Given the description of an element on the screen output the (x, y) to click on. 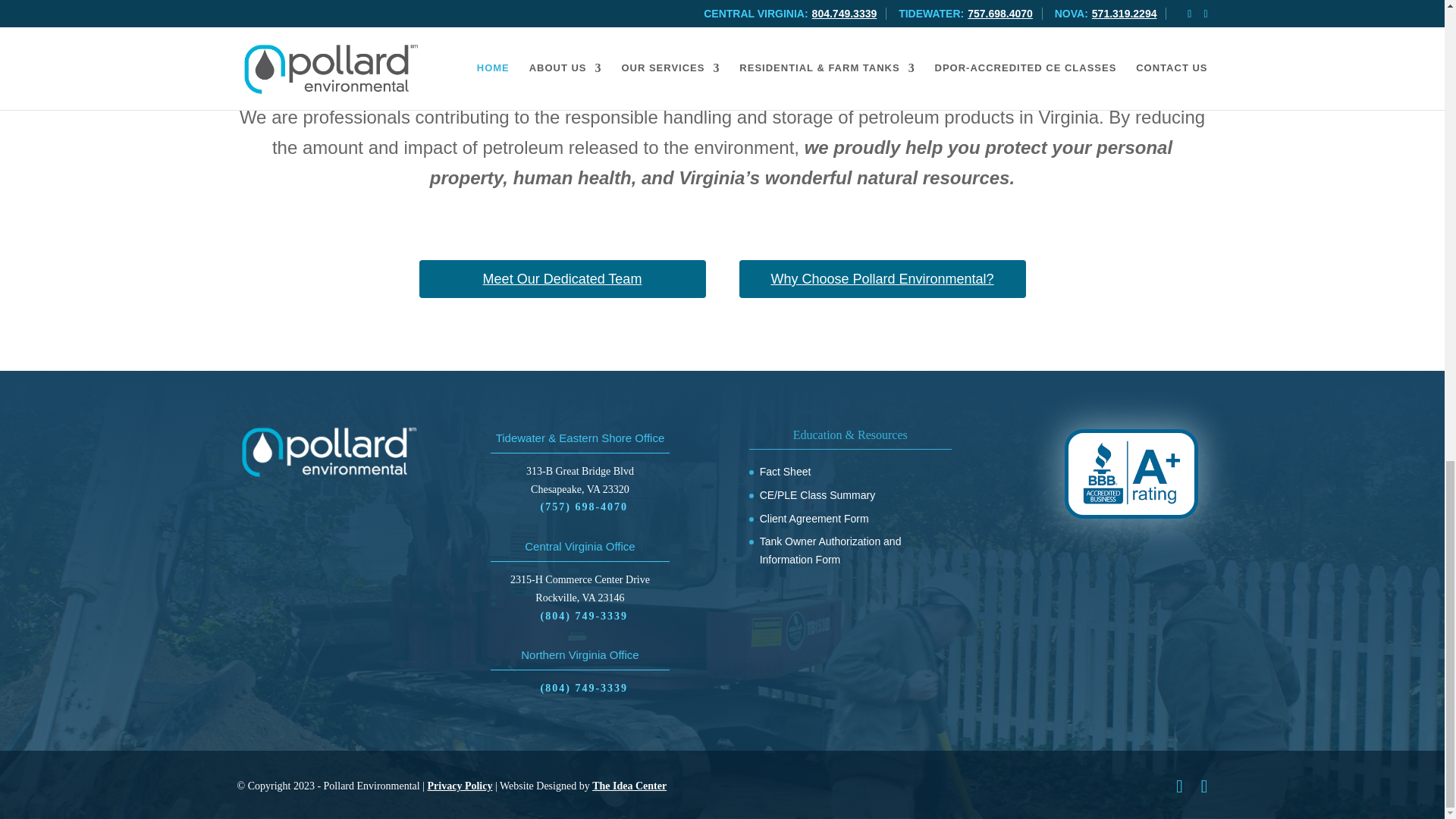
Call Pollard Environmental's Chesapeake Location (584, 506)
Call Pollard Environmental's Rockville Location (584, 616)
Open Pollard Environmental on Google Maps (580, 588)
Open Pollard Environmental on Google Maps (579, 480)
The Idea Center - Digital Marketing Agency (629, 785)
Call Pollard Environmental's Northern VA Location (584, 688)
View Our Privacy Policy (460, 785)
